Given the description of an element on the screen output the (x, y) to click on. 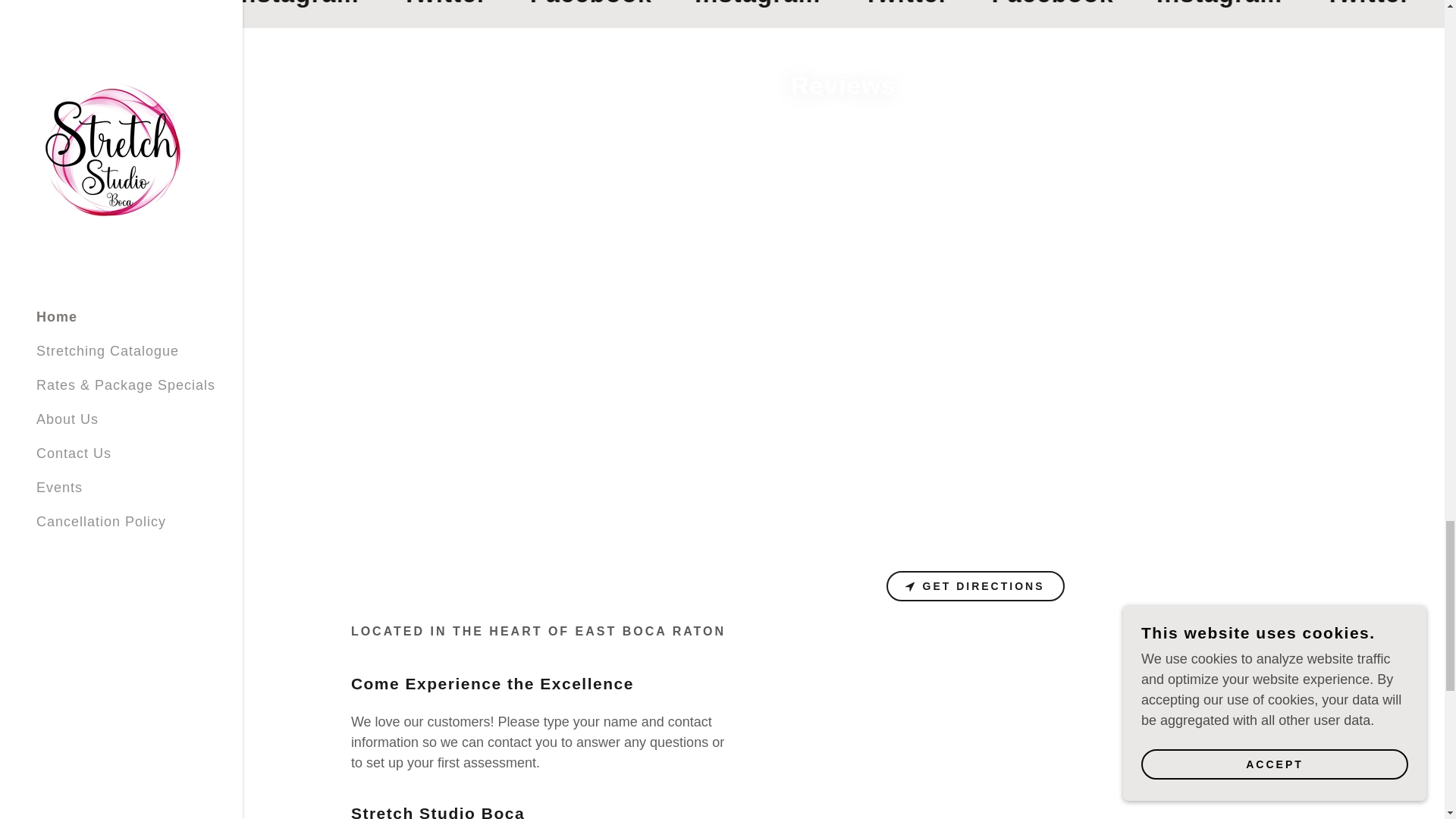
Instagram (870, 4)
Twitter (564, 4)
Facebook (253, 4)
Facebook (1160, 4)
Instagram (1324, 4)
Instagram (417, 4)
Facebook (706, 4)
Twitter (1016, 4)
